Given the description of an element on the screen output the (x, y) to click on. 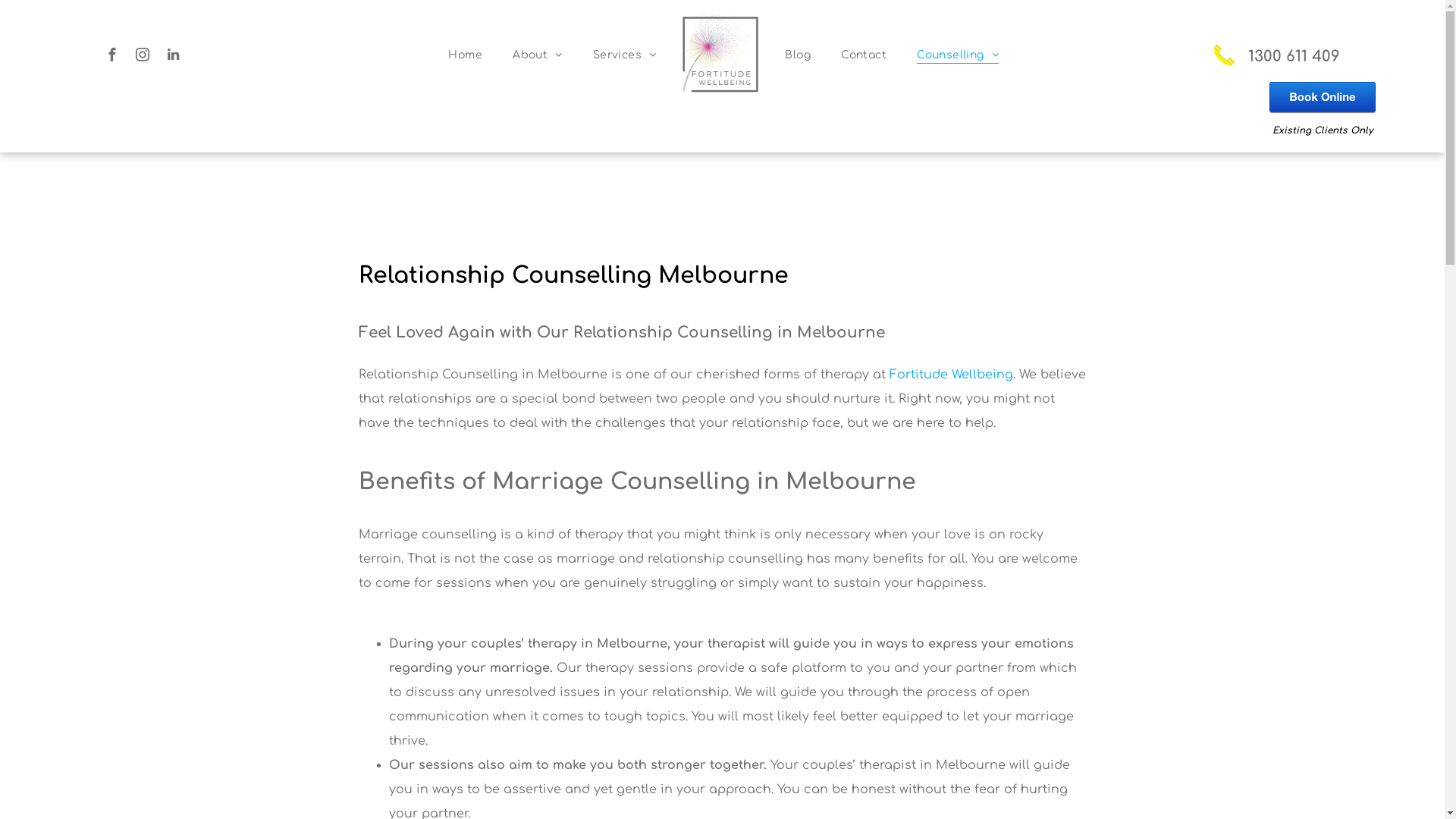
Services Element type: text (624, 54)
Fortitude Wellbeing Element type: text (950, 374)
Blog Element type: text (797, 54)
Home Element type: text (465, 54)
Contact Element type: text (863, 54)
Counselling Element type: text (957, 54)
About Element type: text (537, 54)
1300 611 409 Element type: text (1322, 54)
Book Online Element type: hover (1322, 84)
